Given the description of an element on the screen output the (x, y) to click on. 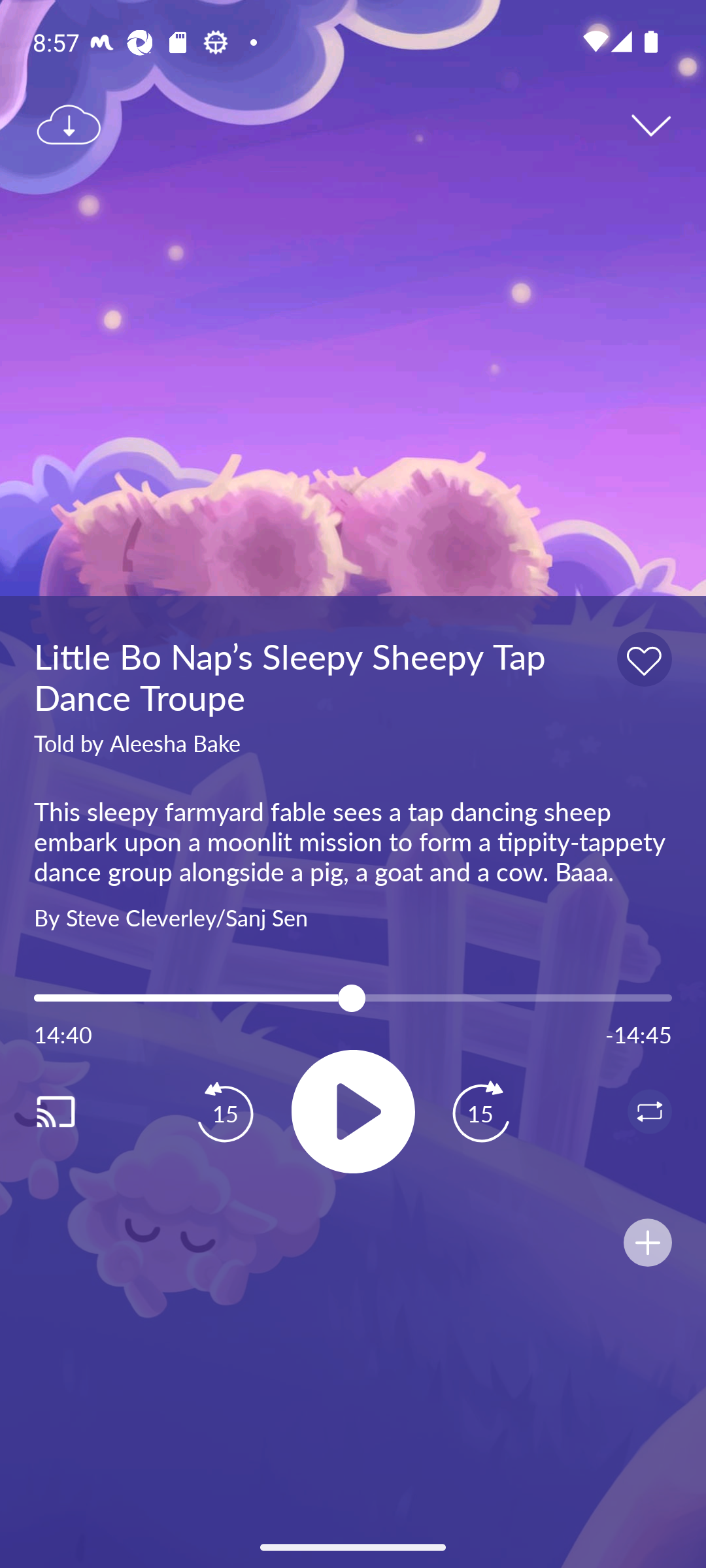
880.0 (352, 997)
Cast. Disconnected (76, 1111)
